Given the description of an element on the screen output the (x, y) to click on. 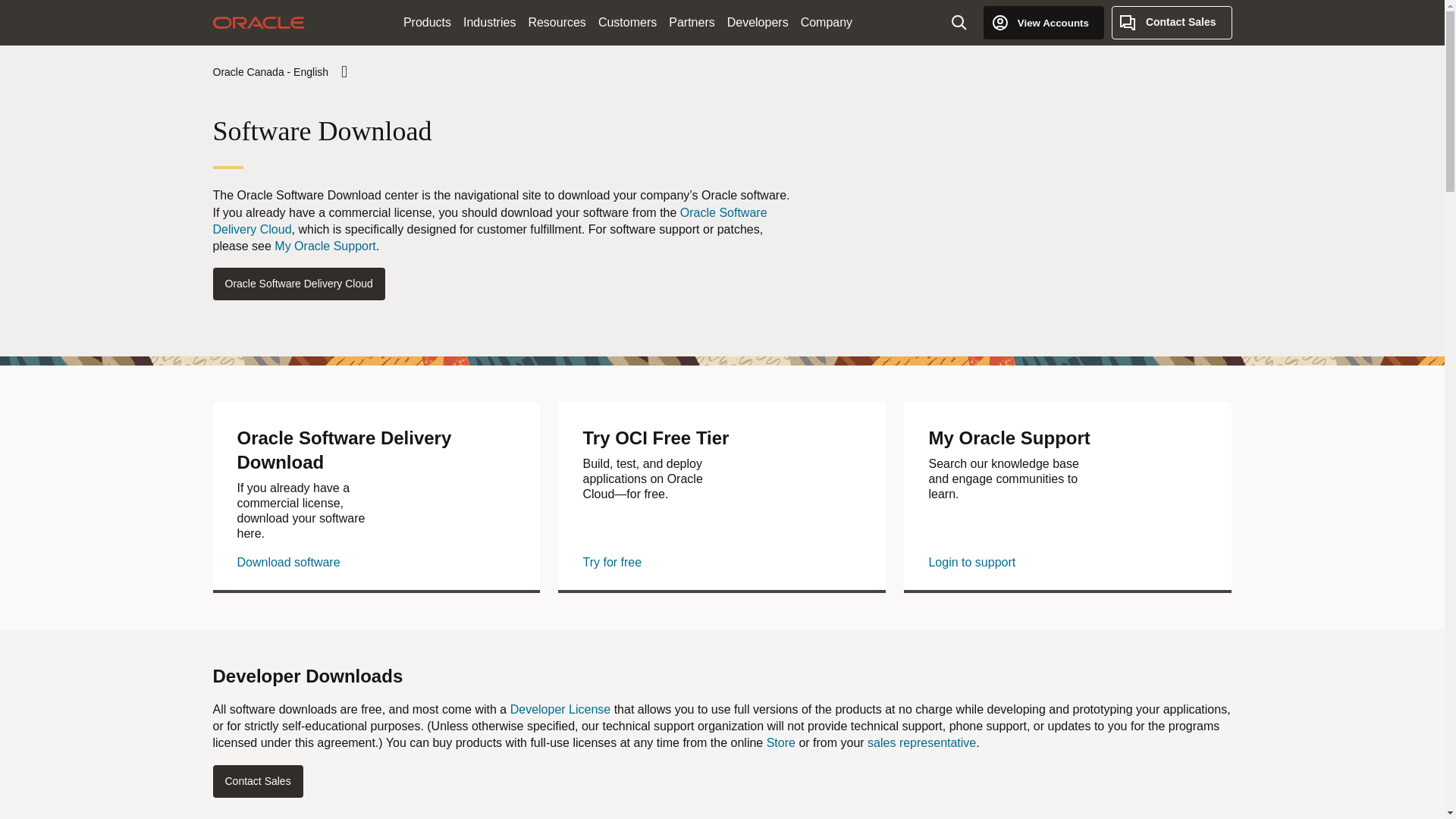
Contact Sales (1171, 22)
Developers (757, 22)
Resources (556, 22)
Industries (489, 22)
Customers (627, 22)
View Accounts (1043, 22)
Company (826, 22)
Contact Sales (1171, 22)
Partners (691, 22)
Products (427, 22)
